Given the description of an element on the screen output the (x, y) to click on. 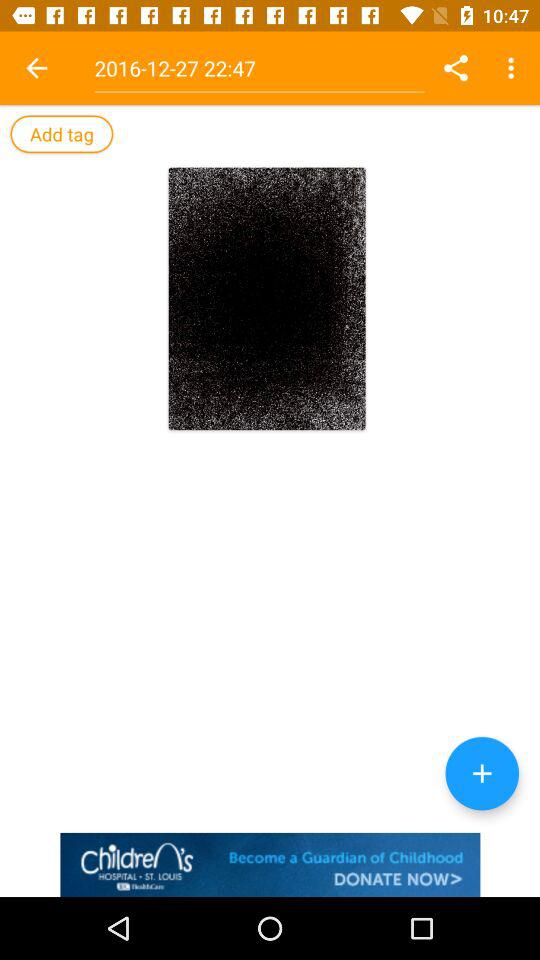
add tag (61, 134)
